Given the description of an element on the screen output the (x, y) to click on. 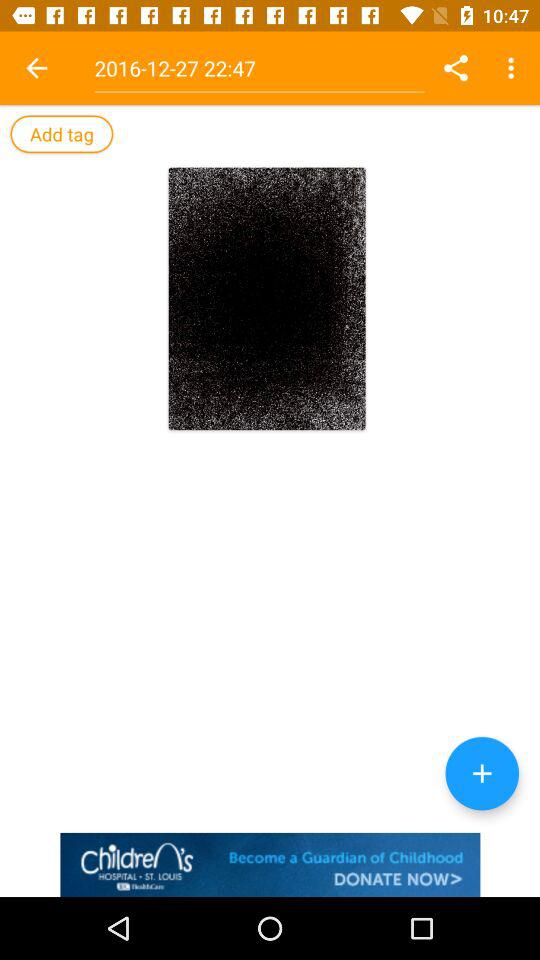
add tag (61, 134)
